Given the description of an element on the screen output the (x, y) to click on. 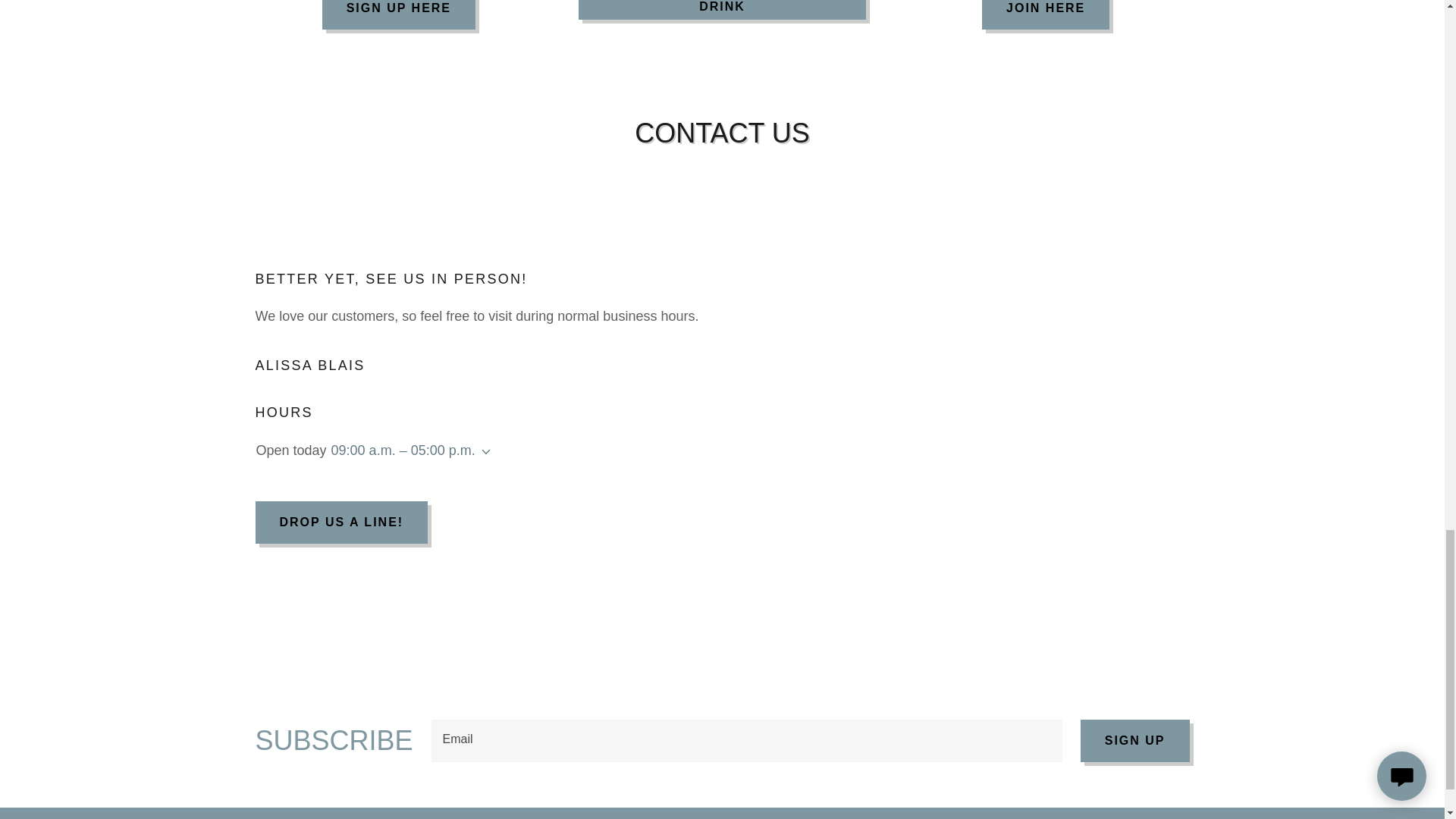
SIGN UP (1134, 740)
TRY OUR VIRAL GUT HEALING AND HORMONE BALANCING DRINK (722, 9)
SIGN UP HERE (398, 14)
DROP US A LINE! (341, 522)
JOIN HERE (1045, 14)
